Given the description of an element on the screen output the (x, y) to click on. 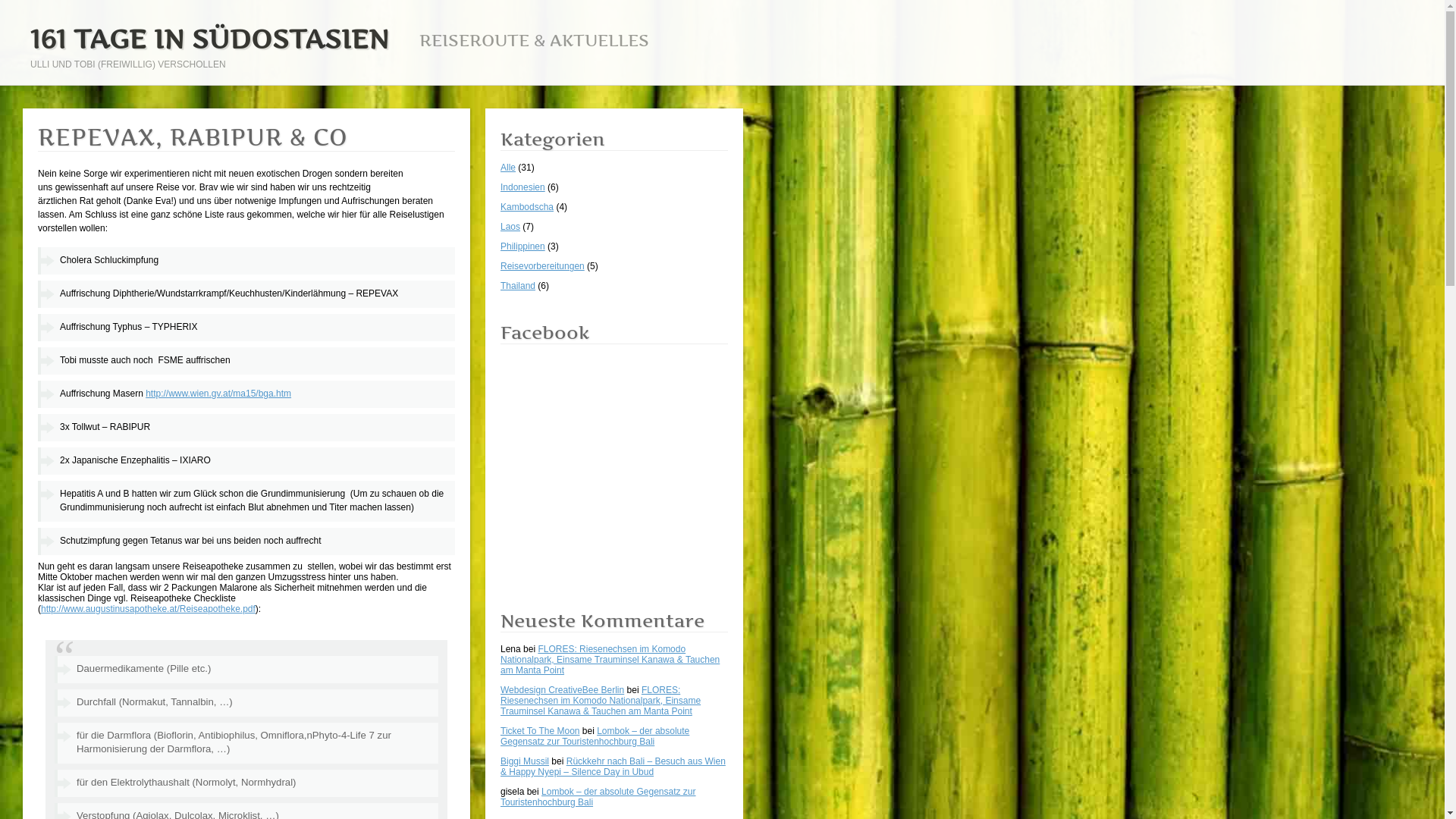
http://www.wien.gv.at/ma15/bga.htm Element type: text (218, 393)
REISEROUTE & AKTUELLES Element type: text (534, 40)
http://www.augustinusapotheke.at/Reiseapotheke.pdf Element type: text (147, 608)
Webdesign CreativeBee Berlin Element type: text (562, 689)
Reisevorbereitungen Element type: text (542, 265)
Indonesien Element type: text (522, 187)
Thailand Element type: text (517, 285)
Biggi Mussil Element type: text (524, 761)
Philippinen Element type: text (522, 246)
Ticket To The Moon Element type: text (540, 730)
Alle Element type: text (507, 167)
Laos Element type: text (510, 226)
Kambodscha Element type: text (526, 206)
